Given the description of an element on the screen output the (x, y) to click on. 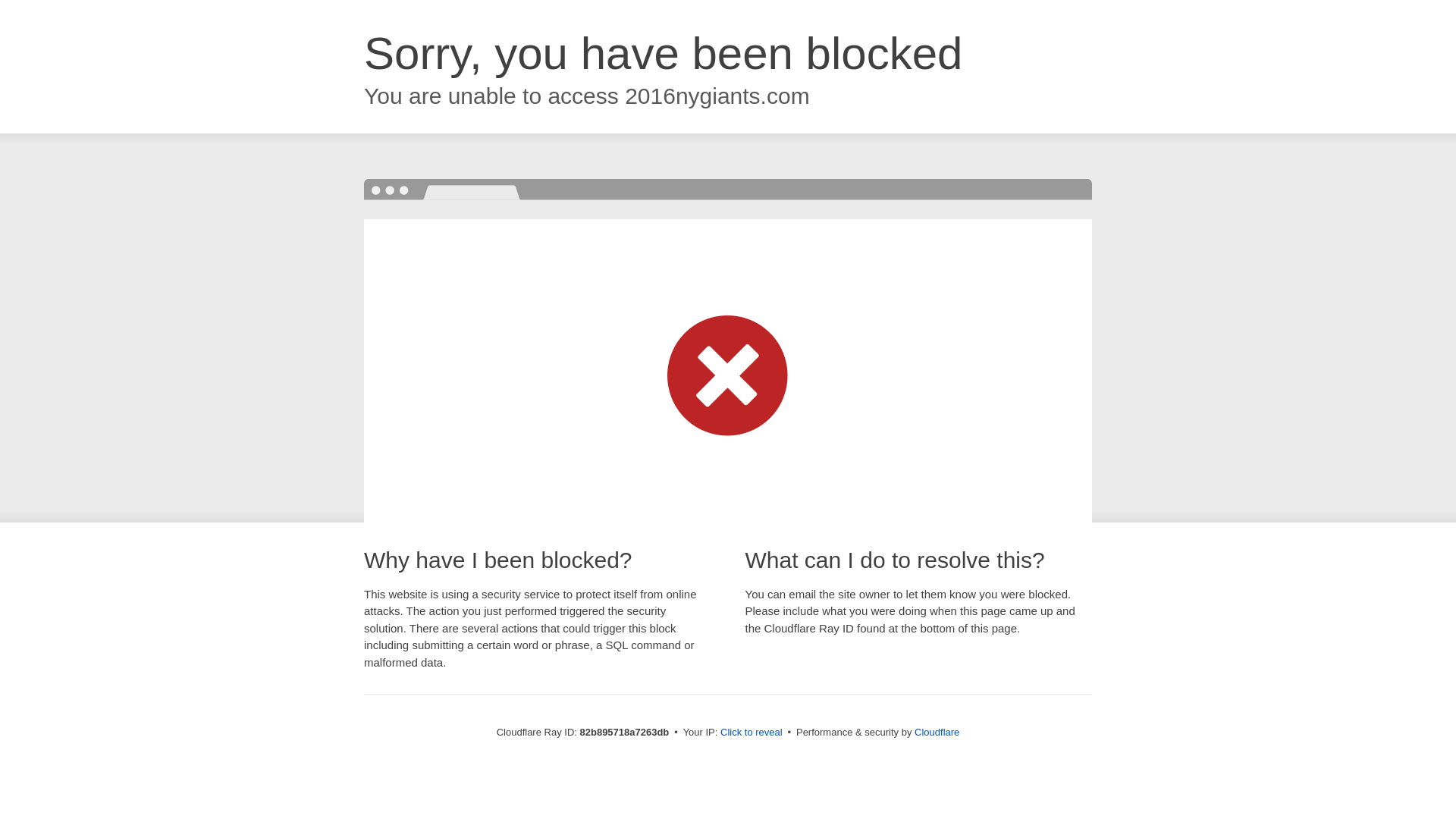
Click to reveal Element type: text (751, 732)
Cloudflare Element type: text (936, 731)
